Given the description of an element on the screen output the (x, y) to click on. 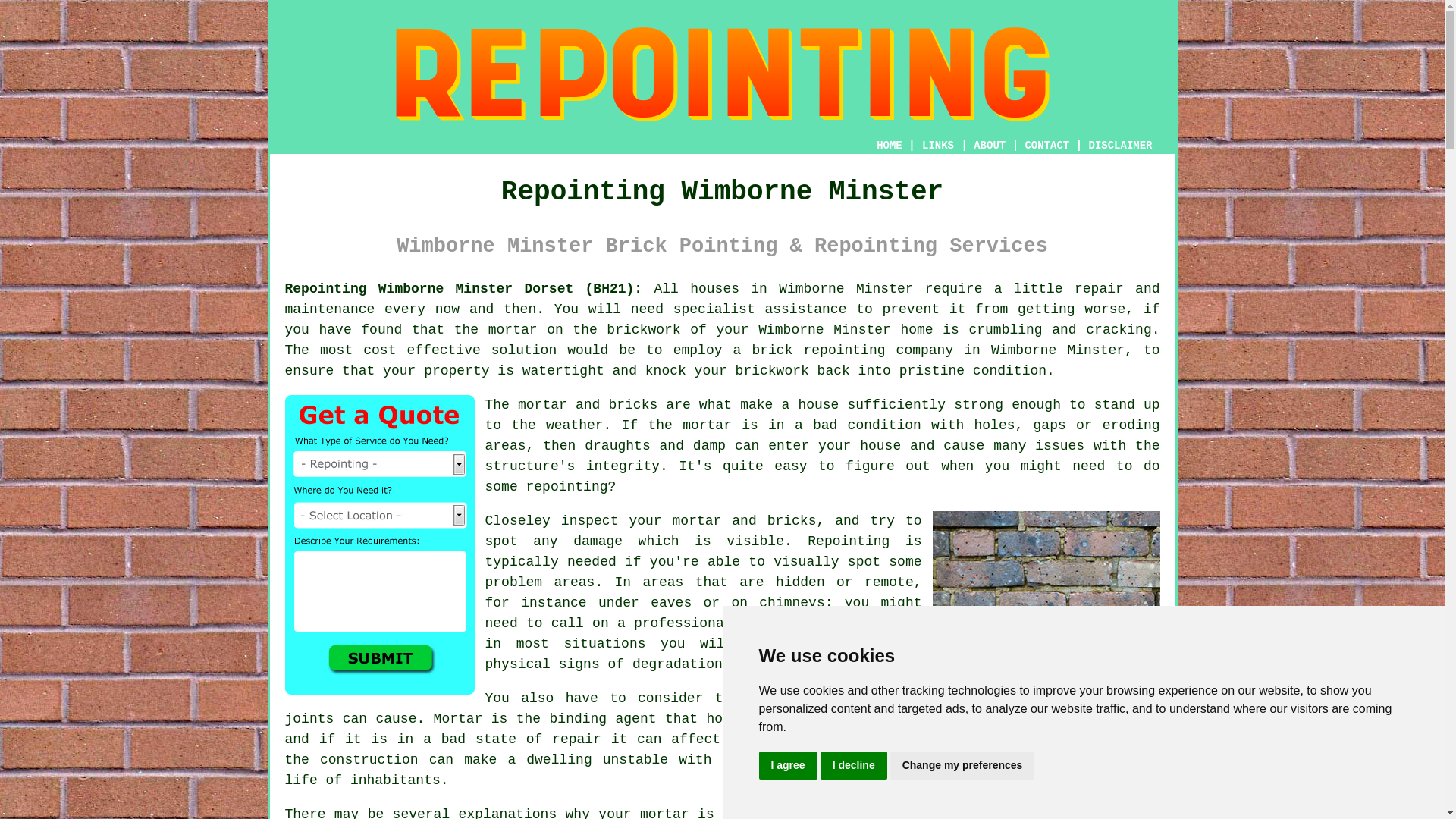
I decline (853, 765)
HOME (889, 145)
LINKS (938, 145)
I agree (787, 765)
Change my preferences (962, 765)
repointing (844, 350)
Repointing Wimborne Minster (722, 74)
mortar (707, 425)
